Given the description of an element on the screen output the (x, y) to click on. 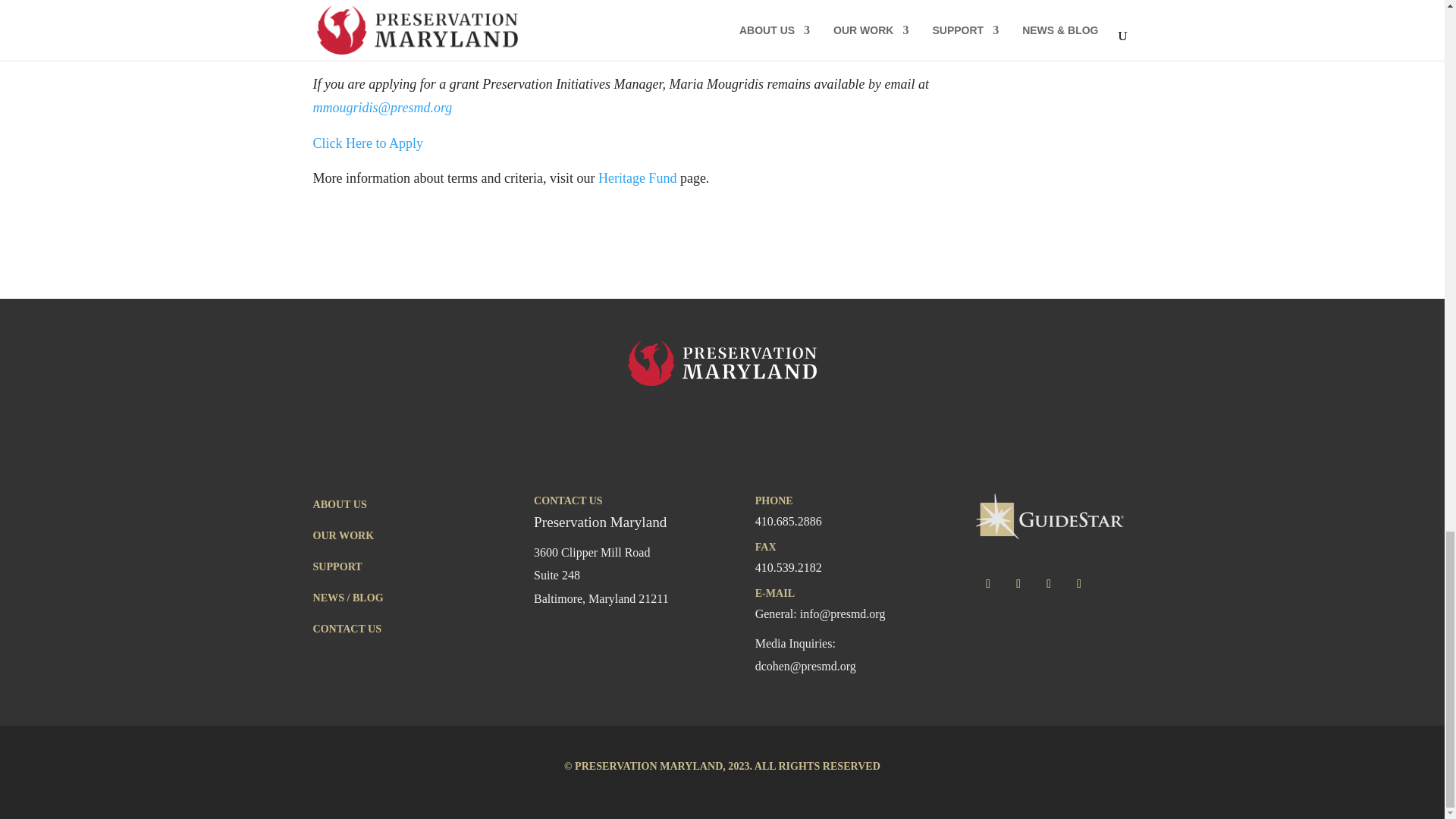
Follow on LinkedIn (1078, 583)
Follow on Twitter (1018, 583)
Follow on Facebook (987, 583)
Follow on Instagram (1048, 583)
